Given the description of an element on the screen output the (x, y) to click on. 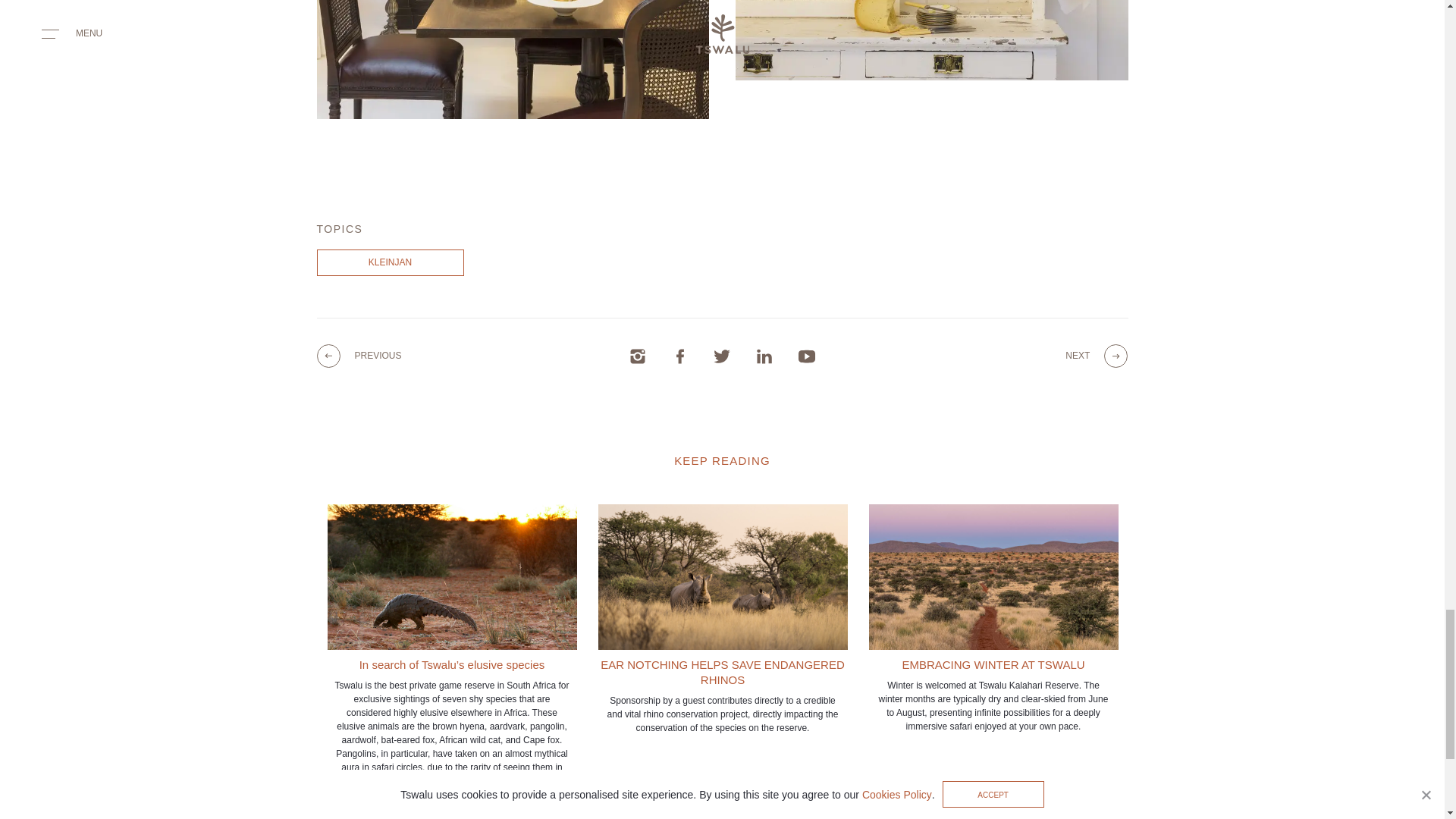
EAR NOTCHING HELPS SAVE ENDANGERED RHINOS (721, 618)
EMBRACING WINTER AT TSWALU (993, 617)
